Given the description of an element on the screen output the (x, y) to click on. 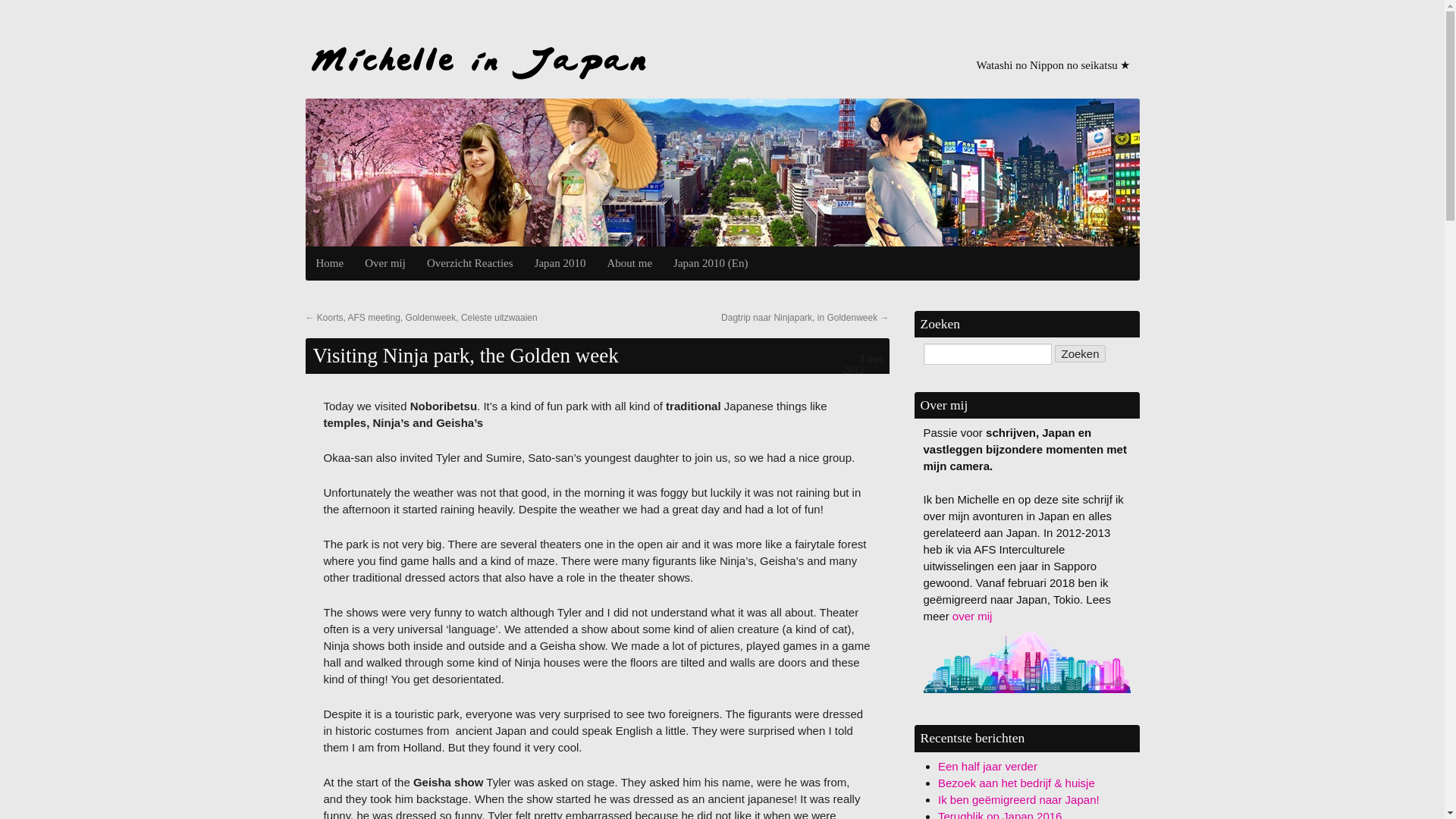
Home (328, 263)
About me (629, 263)
Japan 2010 (560, 263)
Over mij (384, 263)
Overzicht Reacties (470, 263)
Michelle in Japan (478, 61)
Zoeken (1079, 353)
